Given the description of an element on the screen output the (x, y) to click on. 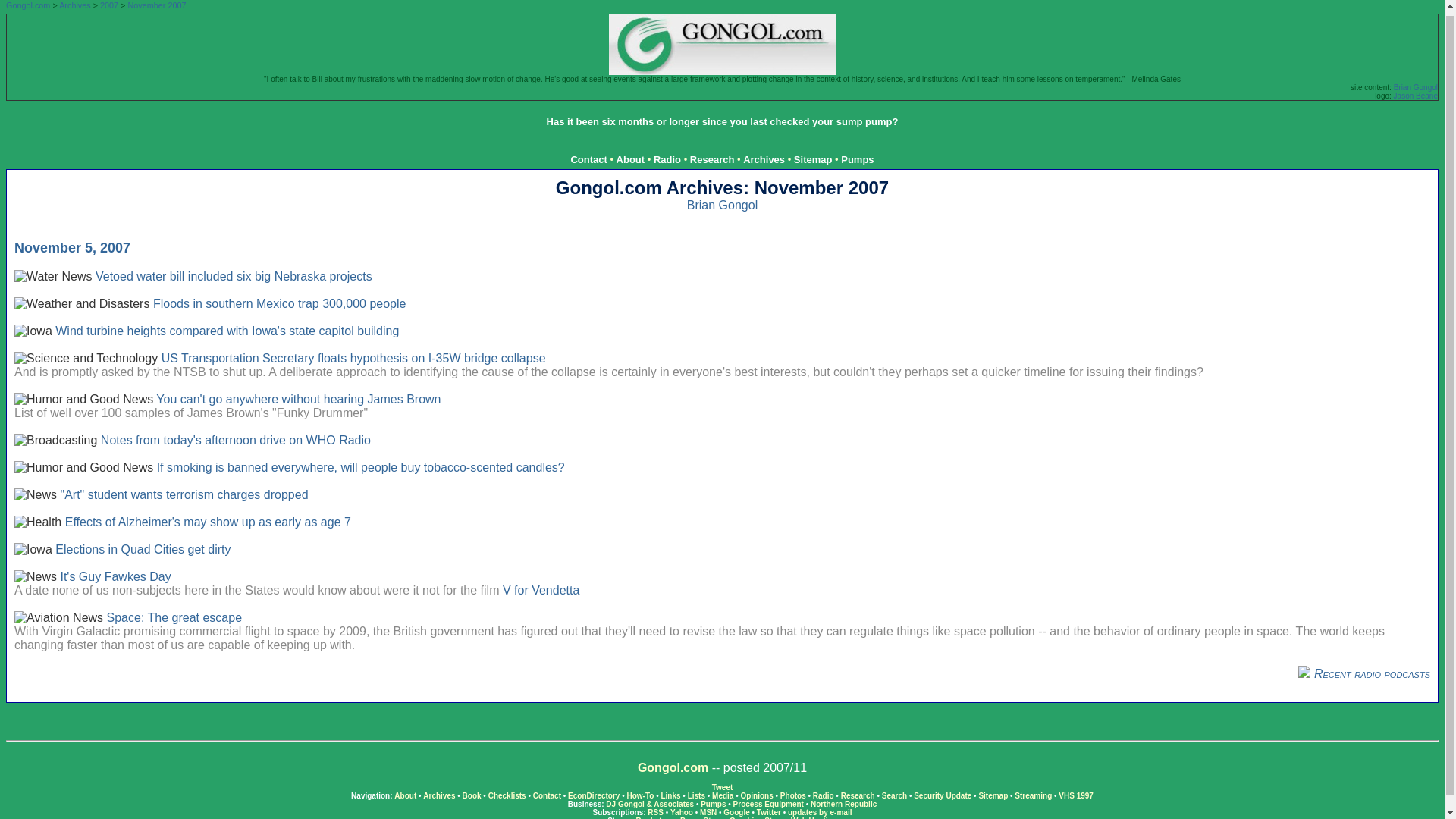
Vetoed water bill included six big Nebraska projects (234, 276)
Elections in Quad Cities get dirty (142, 549)
Radio (667, 159)
It's Guy Fawkes Day (114, 576)
How-To (639, 795)
Notes from today's afternoon drive on WHO Radio (235, 440)
Gongol.com (672, 767)
Archives (763, 159)
